Given the description of an element on the screen output the (x, y) to click on. 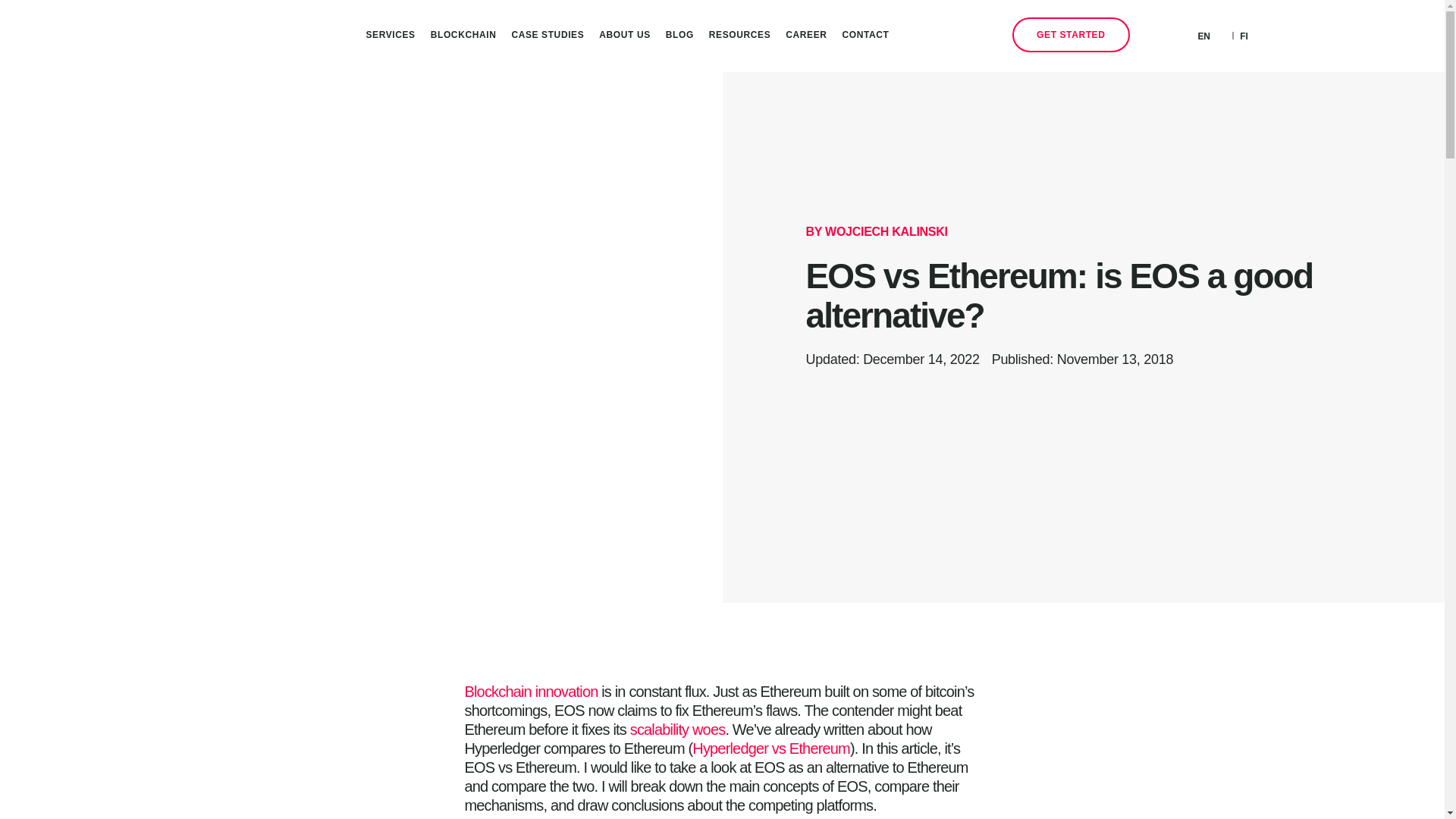
BY WOJCIECH KALINSKI (876, 231)
RESOURCES (739, 35)
BLOCKCHAIN (463, 35)
CAREER (805, 35)
ABOUT US (624, 35)
SERVICES (390, 35)
CASE STUDIES (547, 35)
CONTACT (865, 35)
BLOG (679, 35)
GET STARTED (1070, 34)
